Given the description of an element on the screen output the (x, y) to click on. 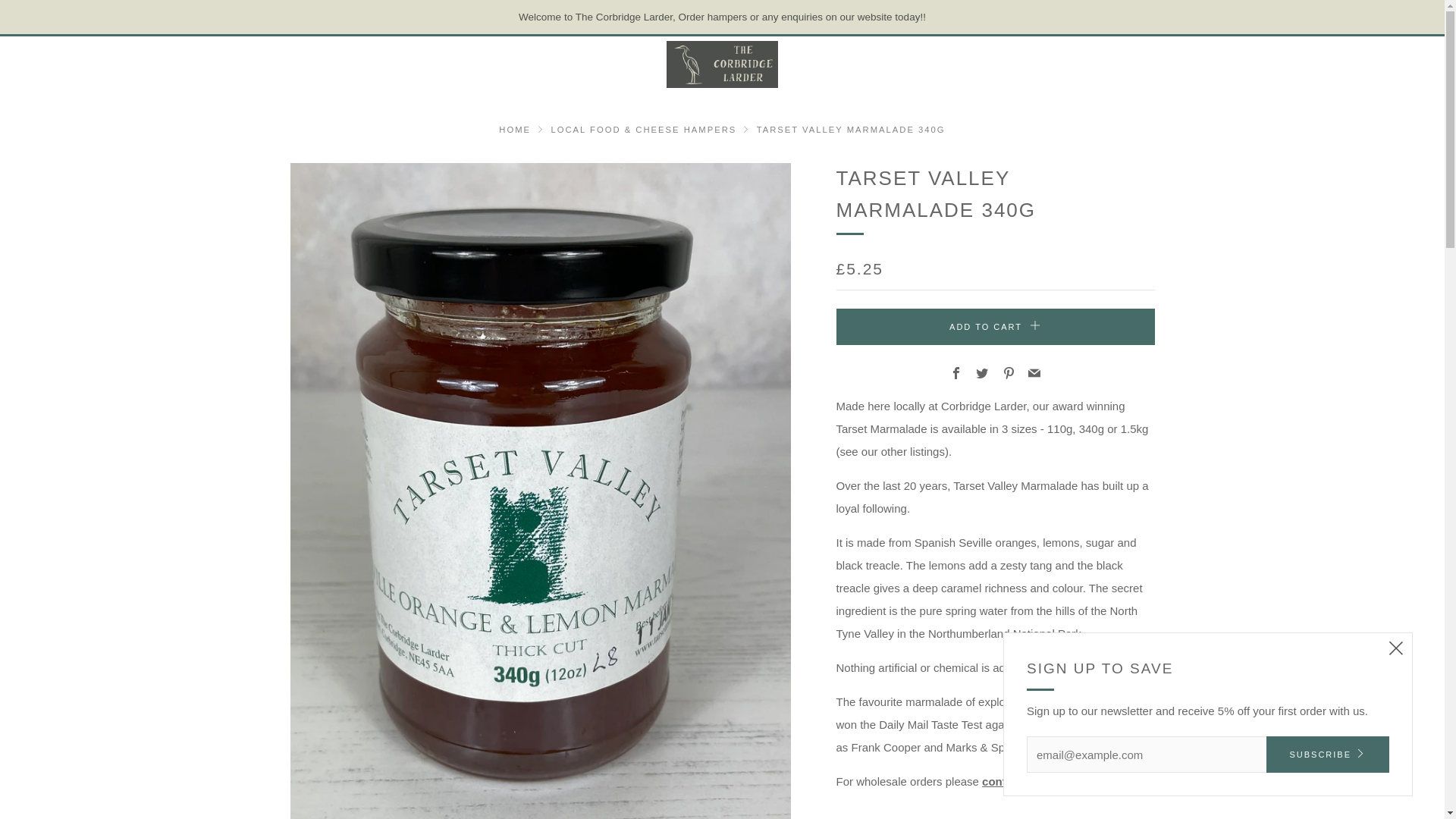
Cart (1412, 63)
Search (1380, 63)
Home (515, 129)
Menu (31, 64)
